Given the description of an element on the screen output the (x, y) to click on. 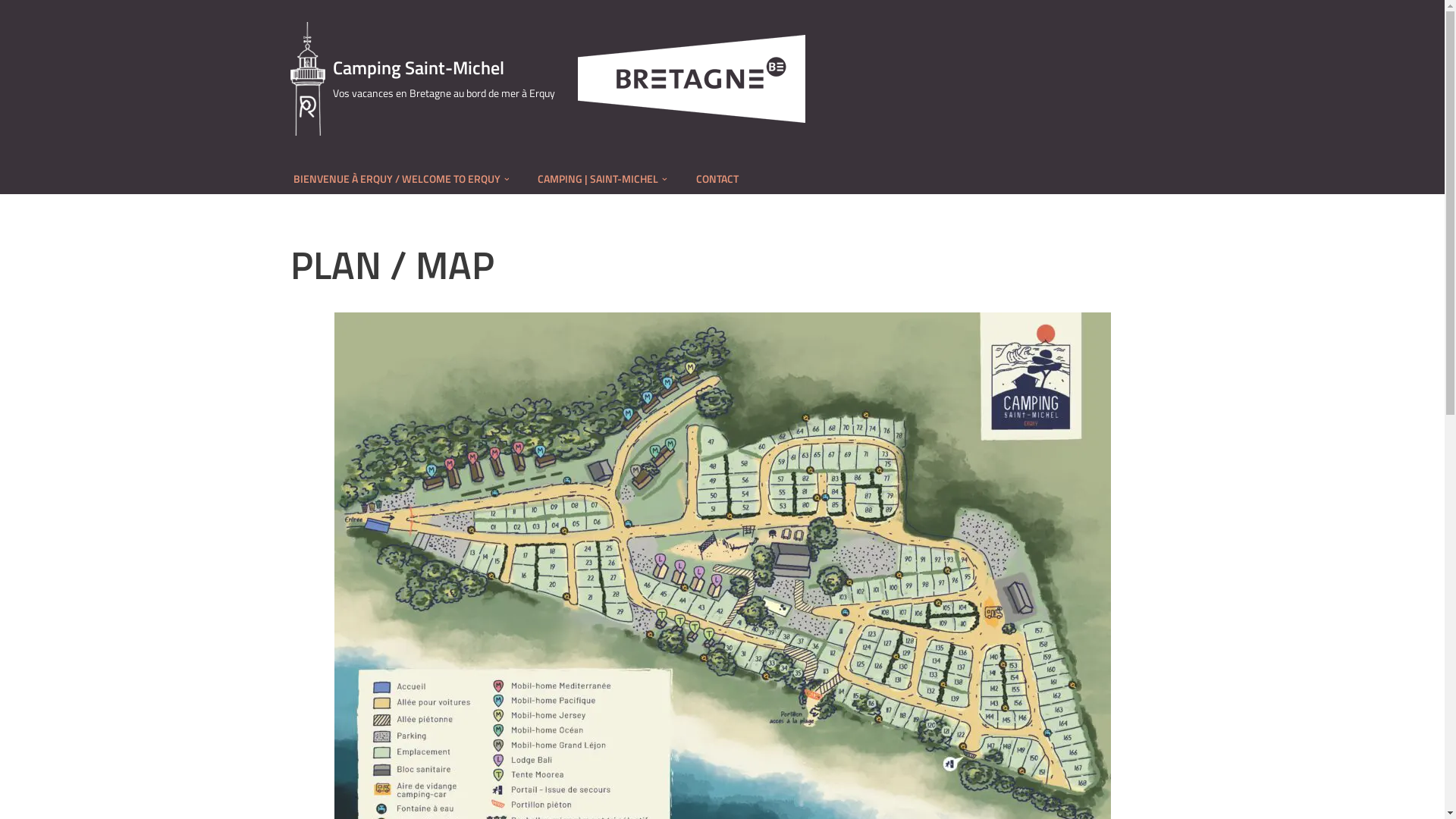
CAMPING | SAINT-MICHEL Element type: text (597, 179)
CONTACT Element type: text (717, 179)
Aller au contenu Element type: text (11, 31)
